Given the description of an element on the screen output the (x, y) to click on. 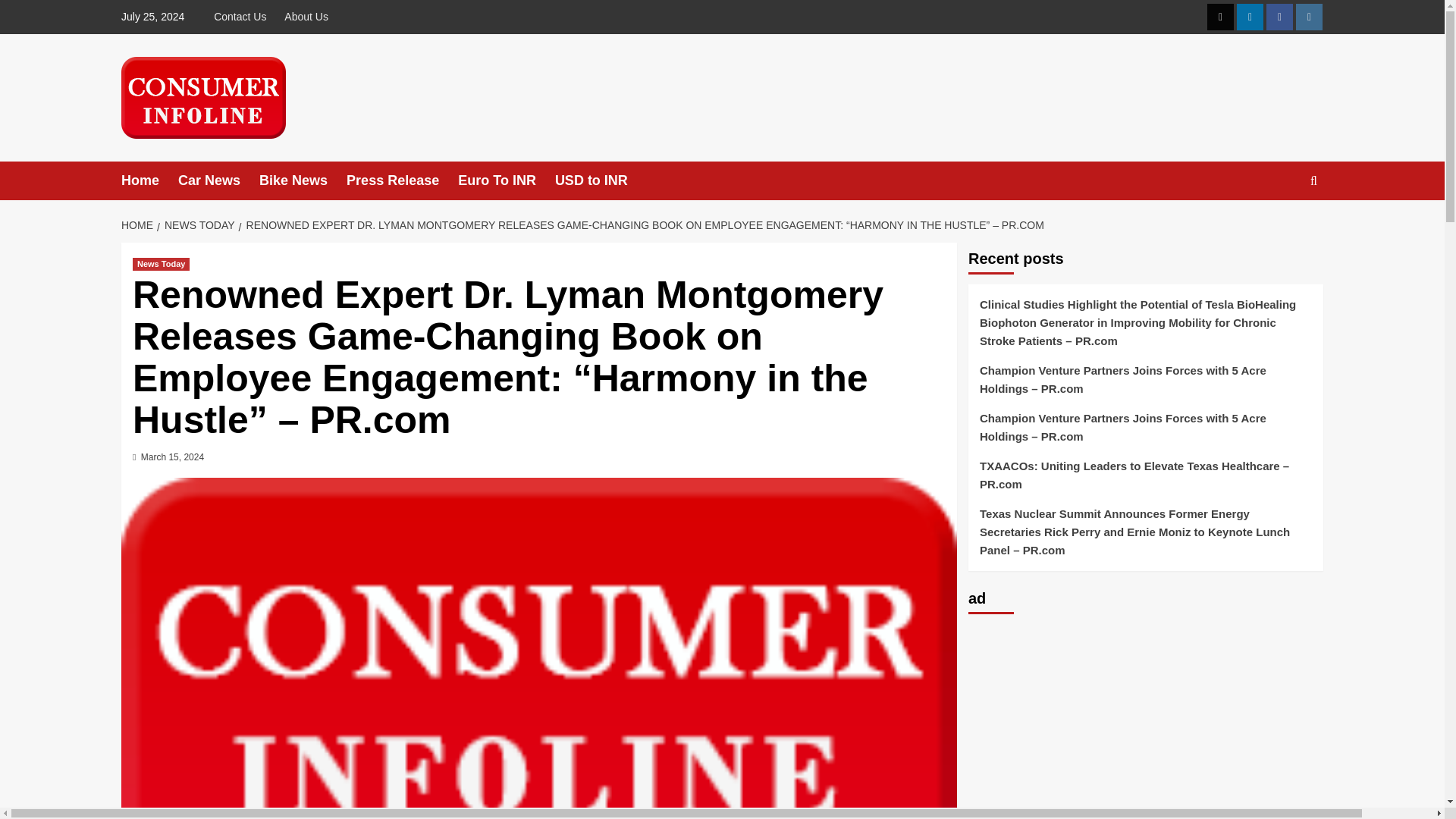
Press Release (402, 180)
NEWS TODAY (197, 224)
March 15, 2024 (172, 457)
Contact Us (243, 17)
News Today (160, 264)
Twitter (1220, 17)
About Us (306, 17)
Linkedin (1249, 17)
Facebook (1279, 17)
USD to INR (600, 180)
HOME (138, 224)
Search (1278, 227)
Home (148, 180)
Car News (218, 180)
